Given the description of an element on the screen output the (x, y) to click on. 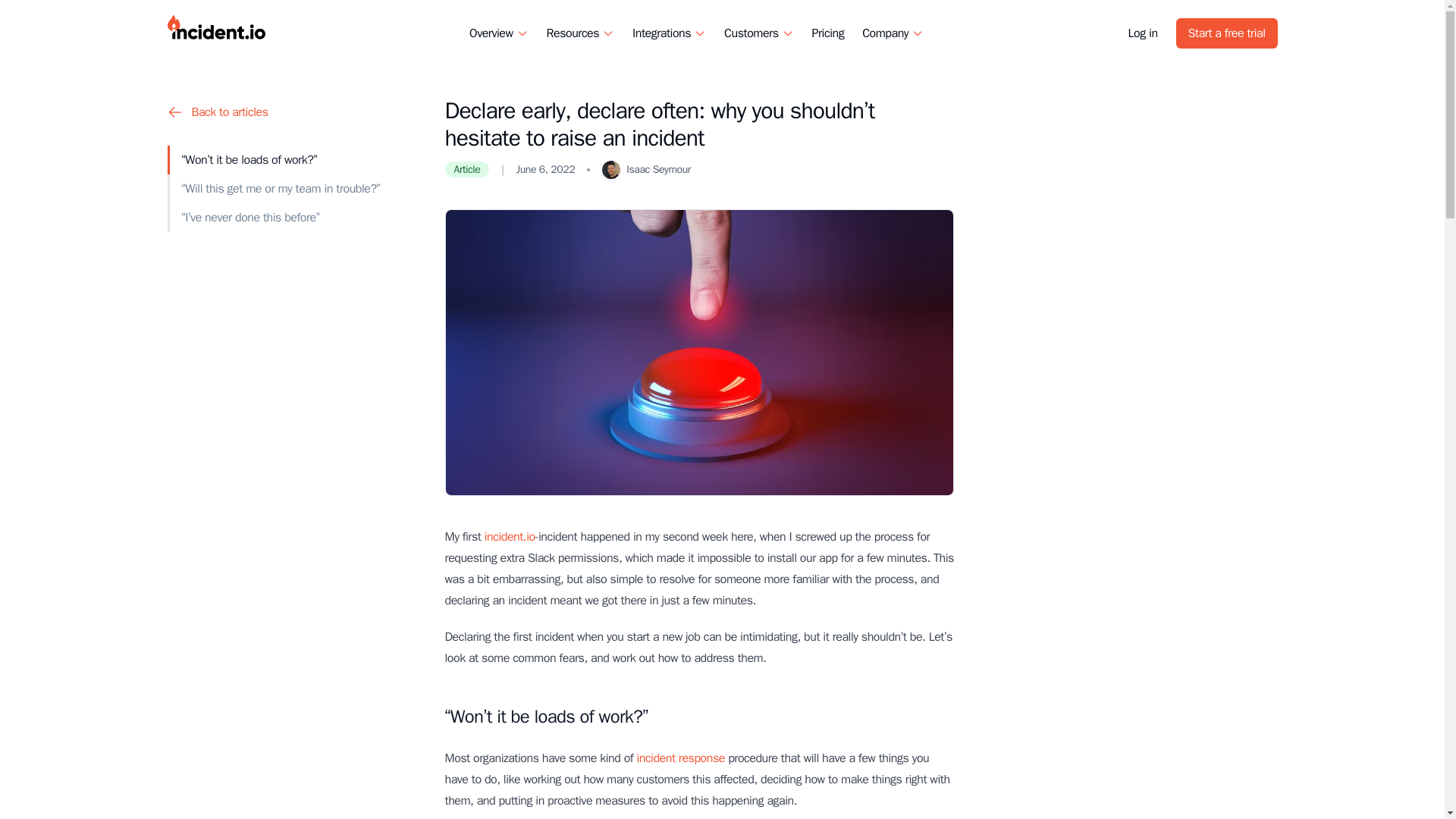
Customers (750, 33)
Overview (498, 33)
Start a free trial (1227, 33)
Company (884, 33)
incident.io (509, 536)
Article (466, 169)
Integrations (668, 33)
Back to articles (290, 112)
incident response (679, 758)
Resources (573, 33)
Customers (758, 33)
Pricing (828, 33)
Isaac Seymour (658, 169)
Log in (1142, 33)
Integrations (660, 33)
